Given the description of an element on the screen output the (x, y) to click on. 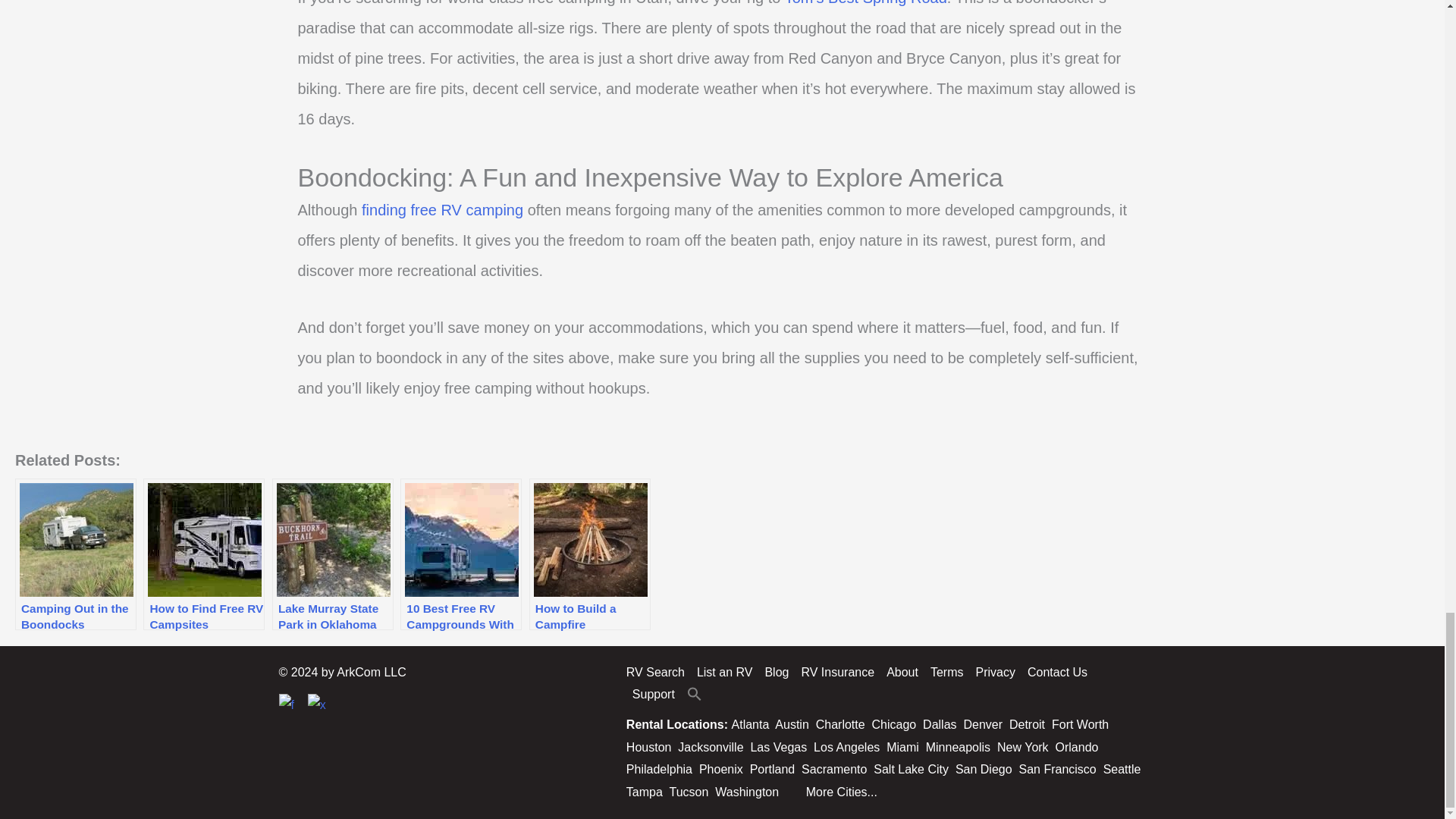
Atlanta RV Rental (751, 724)
Terms (946, 671)
Houston RV Rental (648, 747)
Charlotte RV Rental (839, 724)
Detroit RV Rental (1027, 724)
Privacy (994, 671)
List an RV (724, 671)
finding free RV camping (441, 209)
About (902, 671)
Denver RV Rental (982, 724)
Blog (776, 671)
Chicago RV Rental (894, 724)
RV Search (658, 671)
Jacksonville RV Rental (710, 747)
Austin RV Rental (791, 724)
